Given the description of an element on the screen output the (x, y) to click on. 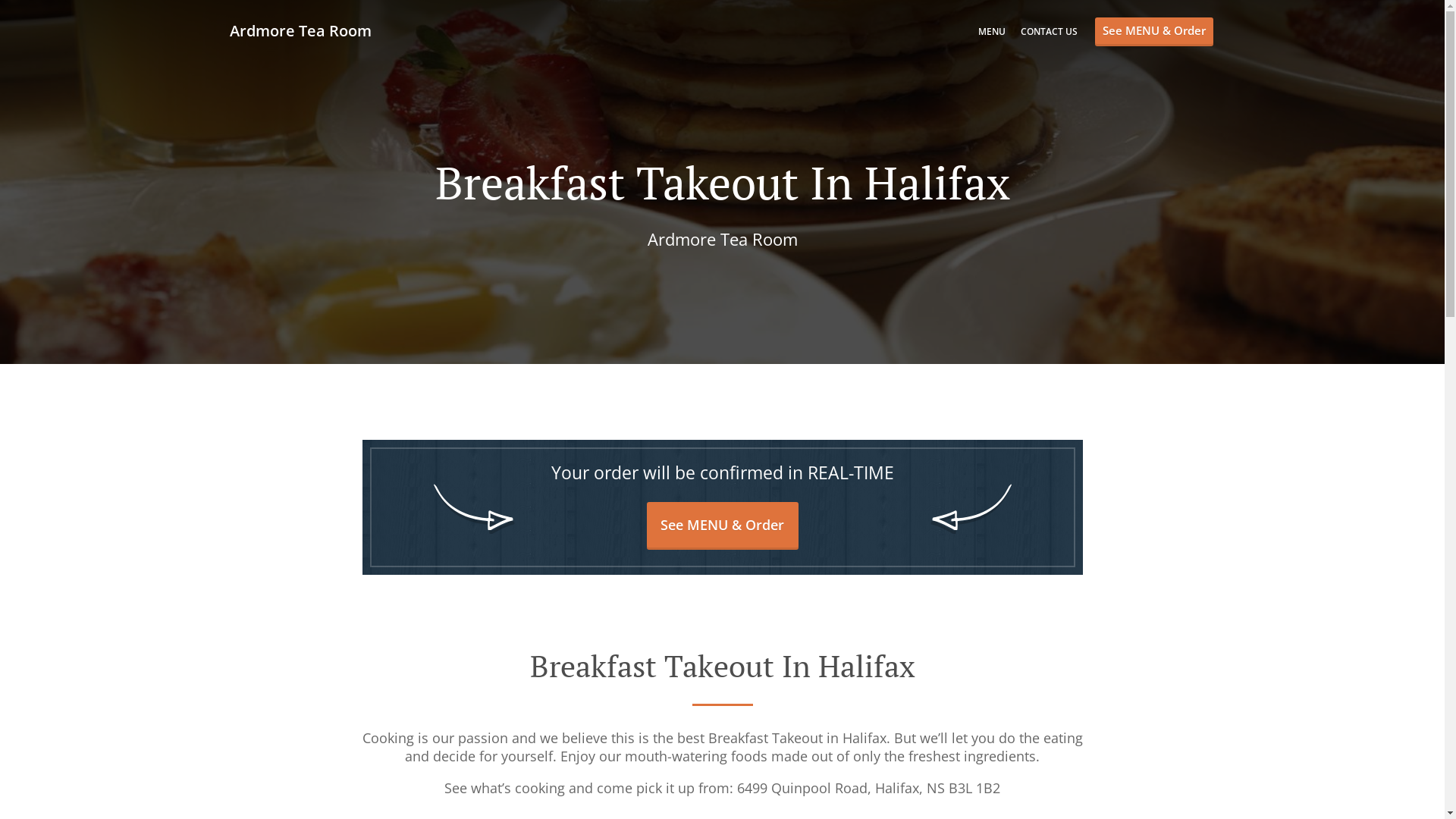
Ardmore Tea Room Element type: text (307, 30)
MENU Element type: text (991, 31)
CONTACT US Element type: text (1048, 31)
